Given the description of an element on the screen output the (x, y) to click on. 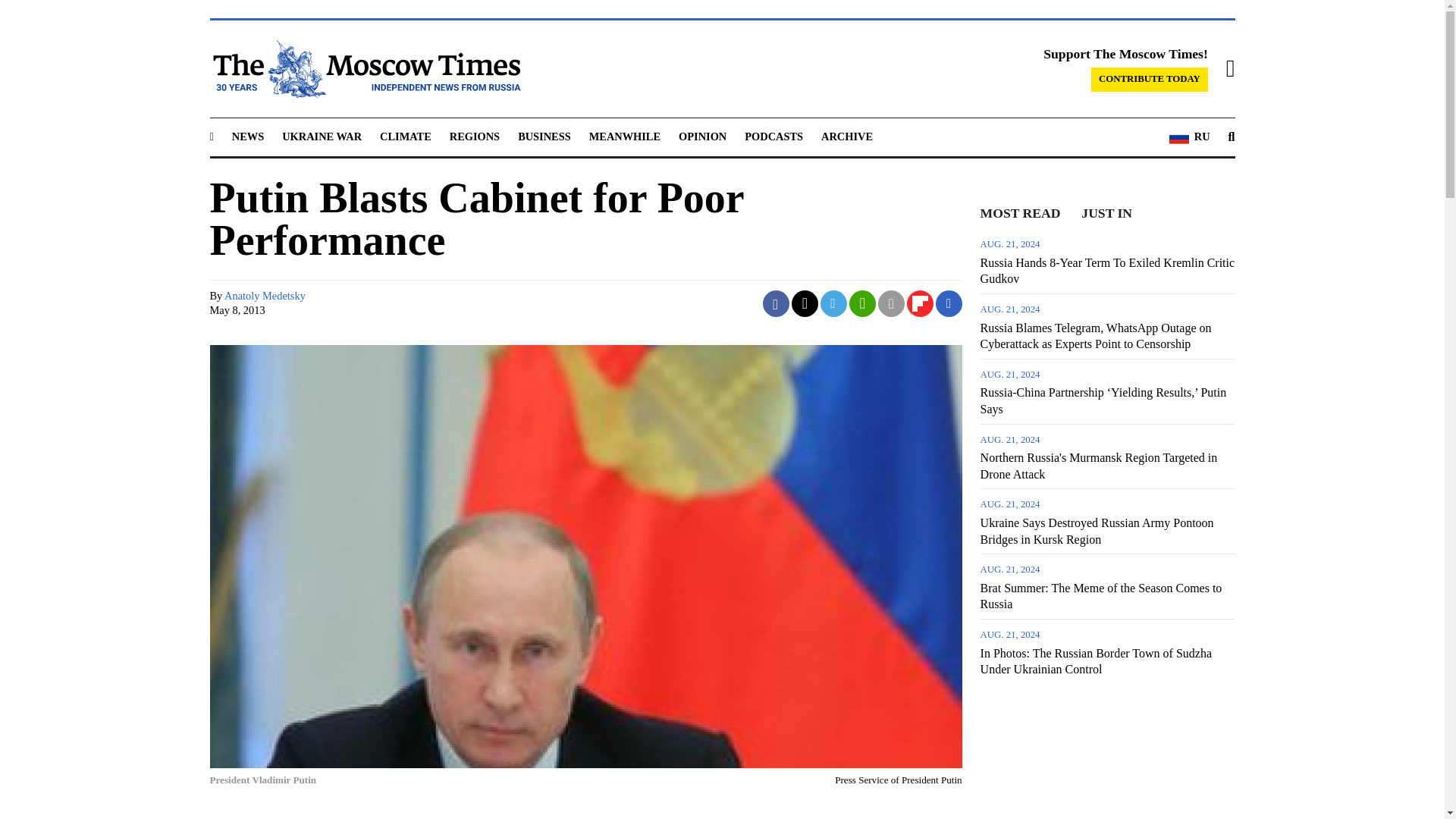
Share on Facebook (775, 303)
RU (1189, 137)
REGIONS (474, 136)
ARCHIVE (846, 136)
Russia Hands 8-Year Term To Exiled Kremlin Critic Gudkov (1106, 260)
CLIMATE (405, 136)
Share on Telegram (834, 303)
BUSINESS (544, 136)
The Moscow Times - Independent News from Russia (364, 68)
OPINION (702, 136)
